Given the description of an element on the screen output the (x, y) to click on. 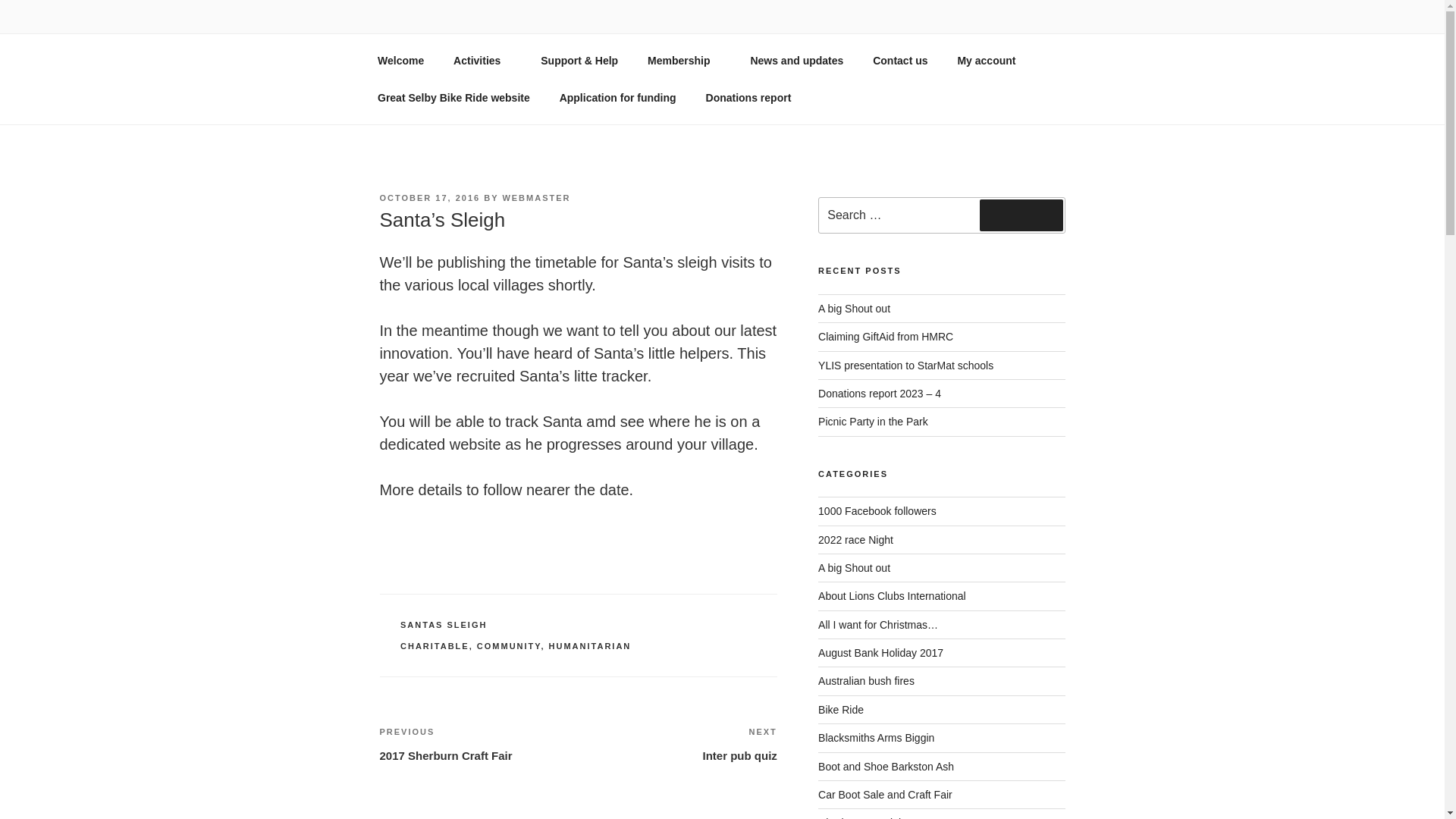
YLIS presentation to StarMat schools (905, 365)
News and updates (796, 60)
Great Selby Bike Ride website (478, 743)
Application for funding (453, 97)
Search (617, 97)
CHARITABLE (1020, 214)
Membership (434, 645)
Contact us (683, 60)
Donations report (900, 60)
